Given the description of an element on the screen output the (x, y) to click on. 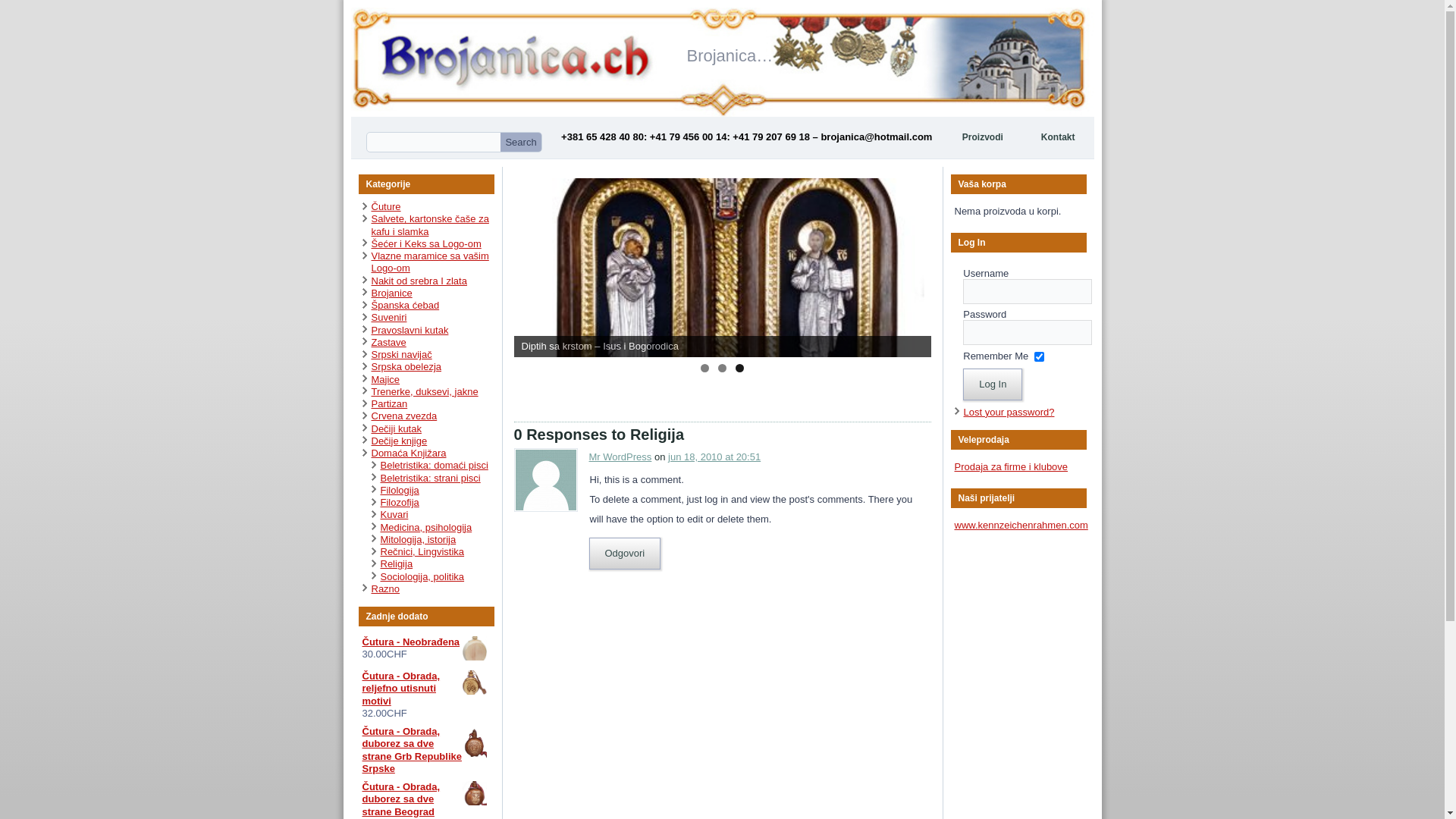
Medicina, psihologija Element type: text (426, 527)
Crvena zvezda Element type: text (404, 415)
Mitologija, istorija Element type: text (418, 539)
jun 18, 2010 at 20:51 Element type: text (714, 456)
Majice Element type: text (385, 378)
Zastave Element type: text (388, 342)
Filozofija Element type: text (399, 502)
2 Element type: text (722, 368)
diptih-krst-isus-1 Element type: hover (722, 267)
Partizan Element type: text (389, 403)
www.kennzeichenrahmen.com Element type: text (1020, 524)
Religija Element type: text (396, 563)
Filologija Element type: text (399, 489)
Log In Element type: text (992, 384)
Srpska obelezja Element type: text (406, 366)
Suveniri Element type: text (389, 317)
Beletristika: strani pisci Element type: text (430, 477)
Proizvodi Element type: text (982, 137)
Trenerke, duksevi, jakne Element type: text (424, 391)
Search Element type: text (520, 141)
1 Element type: text (704, 368)
Pravoslavni kutak Element type: text (409, 329)
Kuvari Element type: text (394, 514)
Brojanice Element type: text (391, 292)
Mr WordPress Element type: text (619, 456)
Odgovori Element type: text (624, 553)
Razno Element type: text (385, 588)
Kontakt Element type: text (1058, 137)
Lost your password? Element type: text (1008, 411)
Sociologija, politika Element type: text (422, 575)
3 Element type: text (739, 368)
Prodaja za firme i klubove Element type: text (1010, 466)
Nakit od srebra I zlata Element type: text (419, 279)
